Given the description of an element on the screen output the (x, y) to click on. 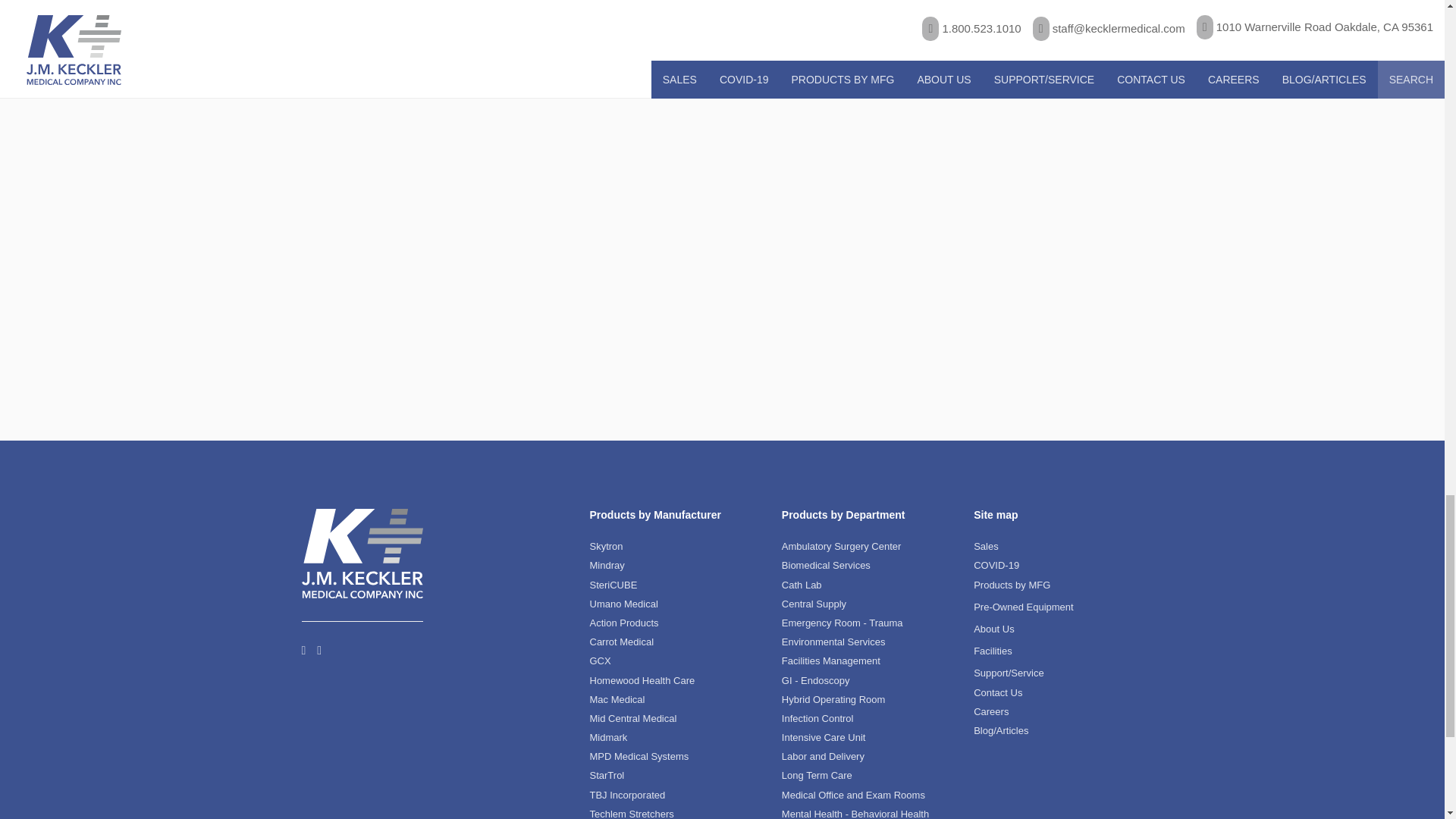
Carrot Medical (621, 641)
Mindray (606, 564)
Skytron (606, 546)
Action Products (624, 622)
Umano Medical (623, 603)
SteriCUBE (613, 584)
